Given the description of an element on the screen output the (x, y) to click on. 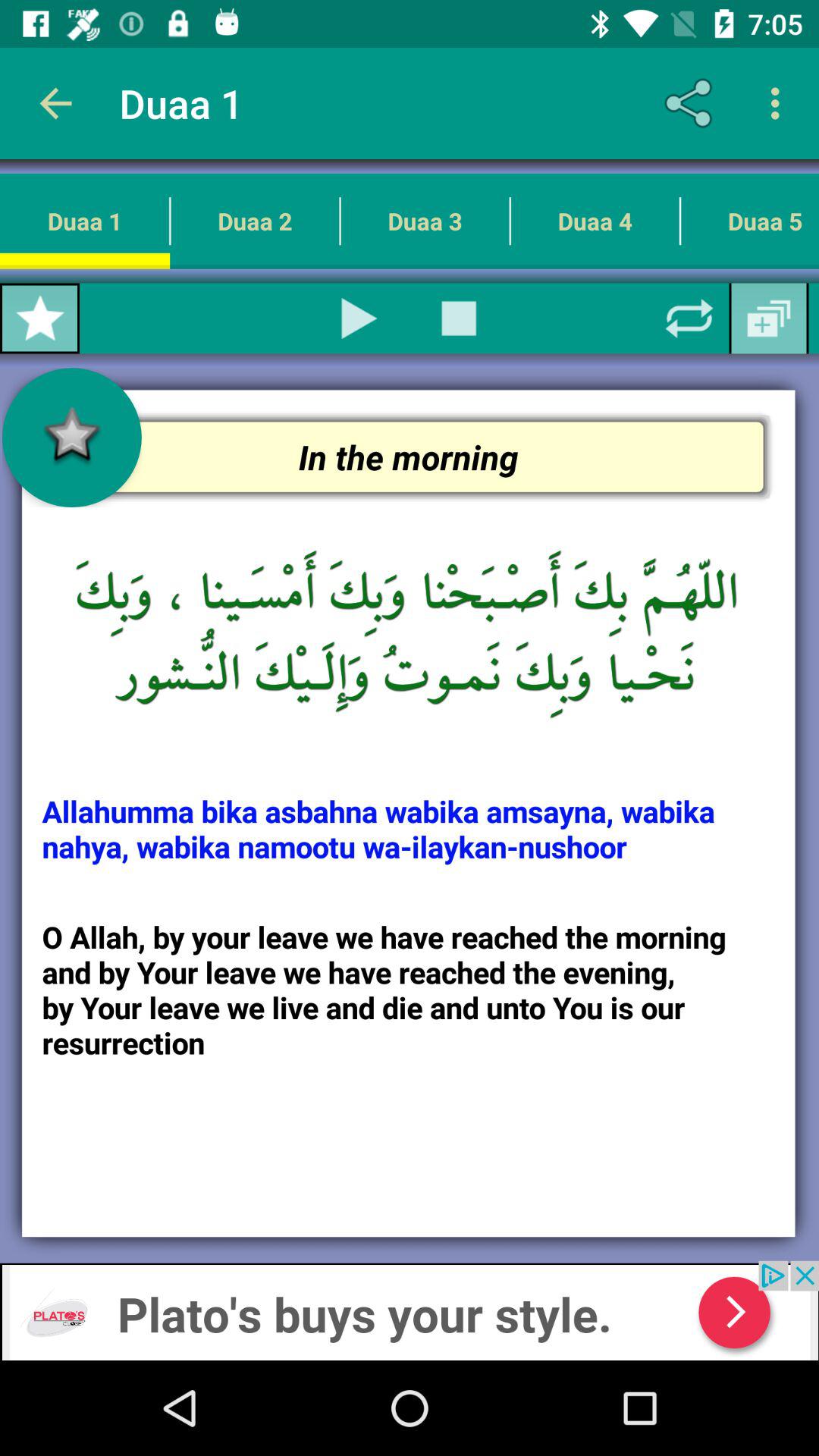
turn on item next to the duaa 5 icon (595, 221)
